Given the description of an element on the screen output the (x, y) to click on. 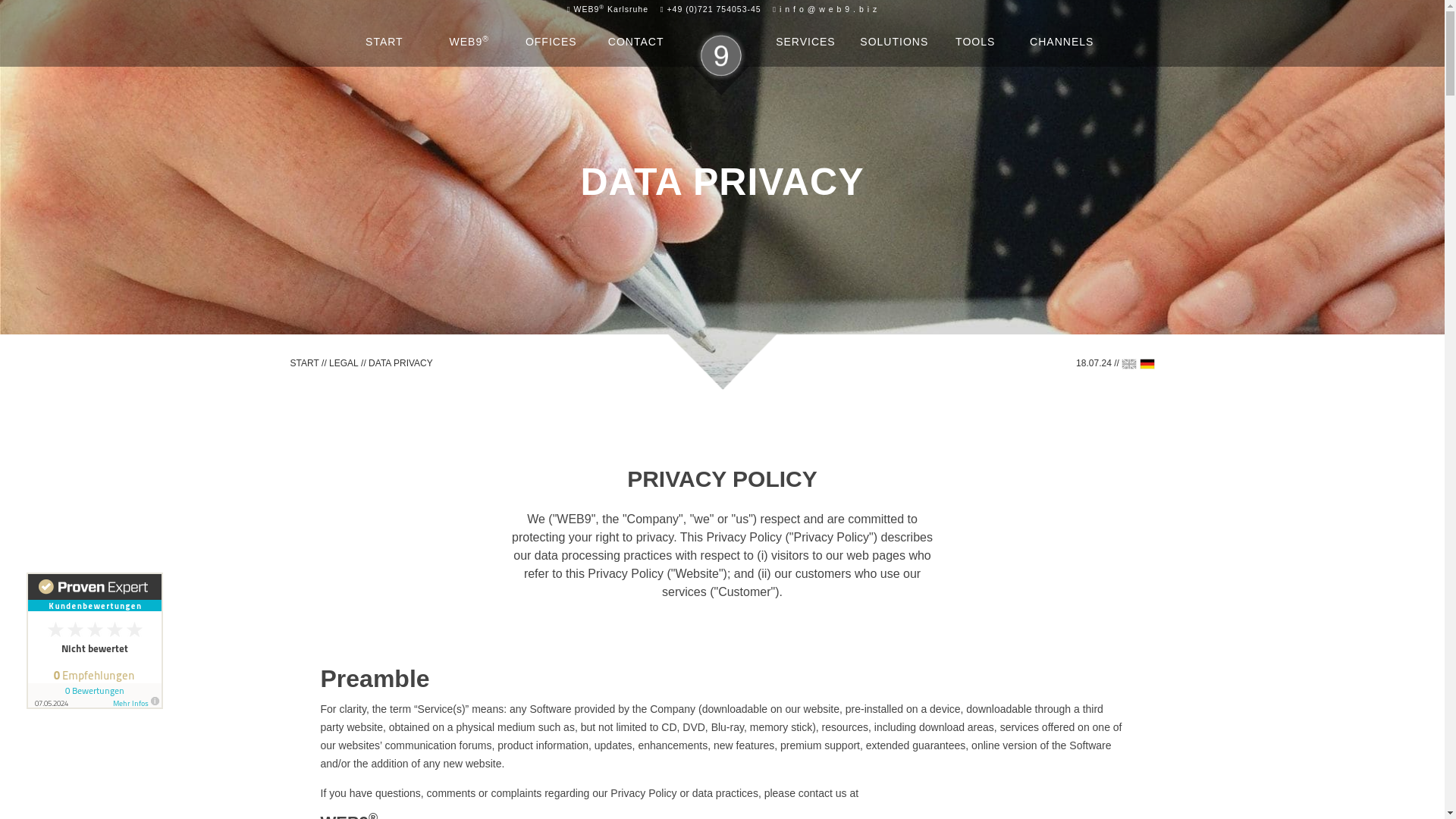
SERVICES (805, 41)
write email (827, 8)
CONTACT (635, 41)
OFFICES (550, 41)
to office address (610, 8)
SOLUTIONS (894, 41)
